Given the description of an element on the screen output the (x, y) to click on. 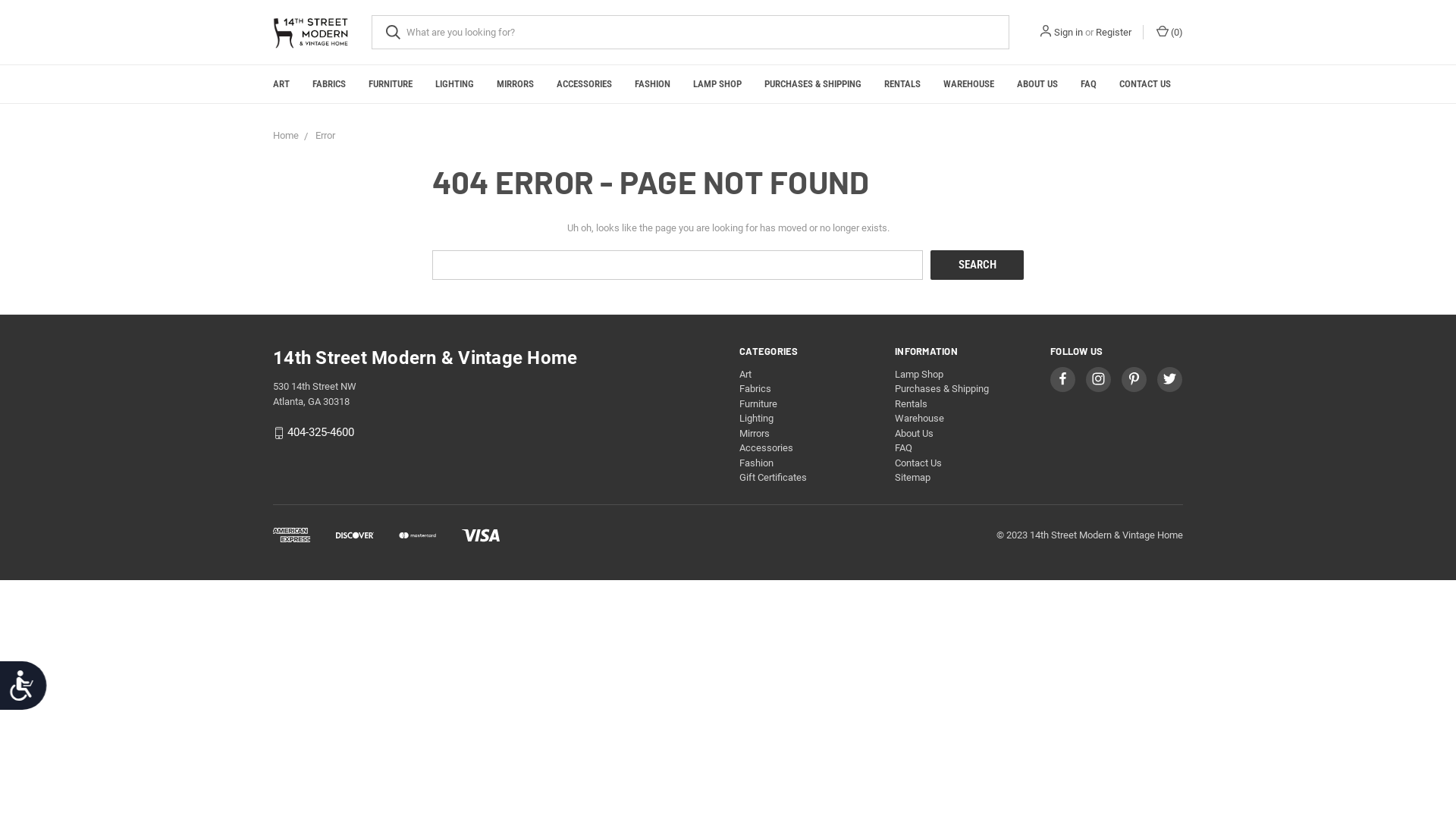
ART Element type: text (281, 84)
Search Element type: text (976, 264)
14th Street Modern & Vintage Home Element type: hover (310, 32)
Contact Us Element type: text (917, 462)
Sitemap Element type: text (912, 477)
FAQ Element type: text (903, 447)
Mirrors Element type: text (754, 433)
Register Element type: text (1113, 32)
About Us Element type: text (913, 433)
(0) Element type: text (1168, 32)
FAQ Element type: text (1088, 84)
Fabrics Element type: text (755, 388)
Warehouse Element type: text (919, 417)
LIGHTING Element type: text (454, 84)
Furniture Element type: text (758, 403)
WAREHOUSE Element type: text (968, 84)
Fashion Element type: text (756, 462)
Lamp Shop Element type: text (918, 373)
Gift Certificates Element type: text (772, 477)
404-325-4600 Element type: text (320, 432)
PURCHASES & SHIPPING Element type: text (812, 84)
Home Element type: text (285, 135)
Art Element type: text (745, 373)
Lighting Element type: text (756, 417)
Purchases & Shipping Element type: text (941, 388)
ACCESSORIES Element type: text (584, 84)
FASHION Element type: text (652, 84)
Sign in Element type: text (1068, 32)
FURNITURE Element type: text (390, 84)
CONTACT US Element type: text (1144, 84)
LAMP SHOP Element type: text (717, 84)
Rentals Element type: text (910, 403)
FABRICS Element type: text (329, 84)
Accessories Element type: text (766, 447)
RENTALS Element type: text (901, 84)
MIRRORS Element type: text (515, 84)
Accessibility Element type: text (29, 691)
ABOUT US Element type: text (1037, 84)
